Given the description of an element on the screen output the (x, y) to click on. 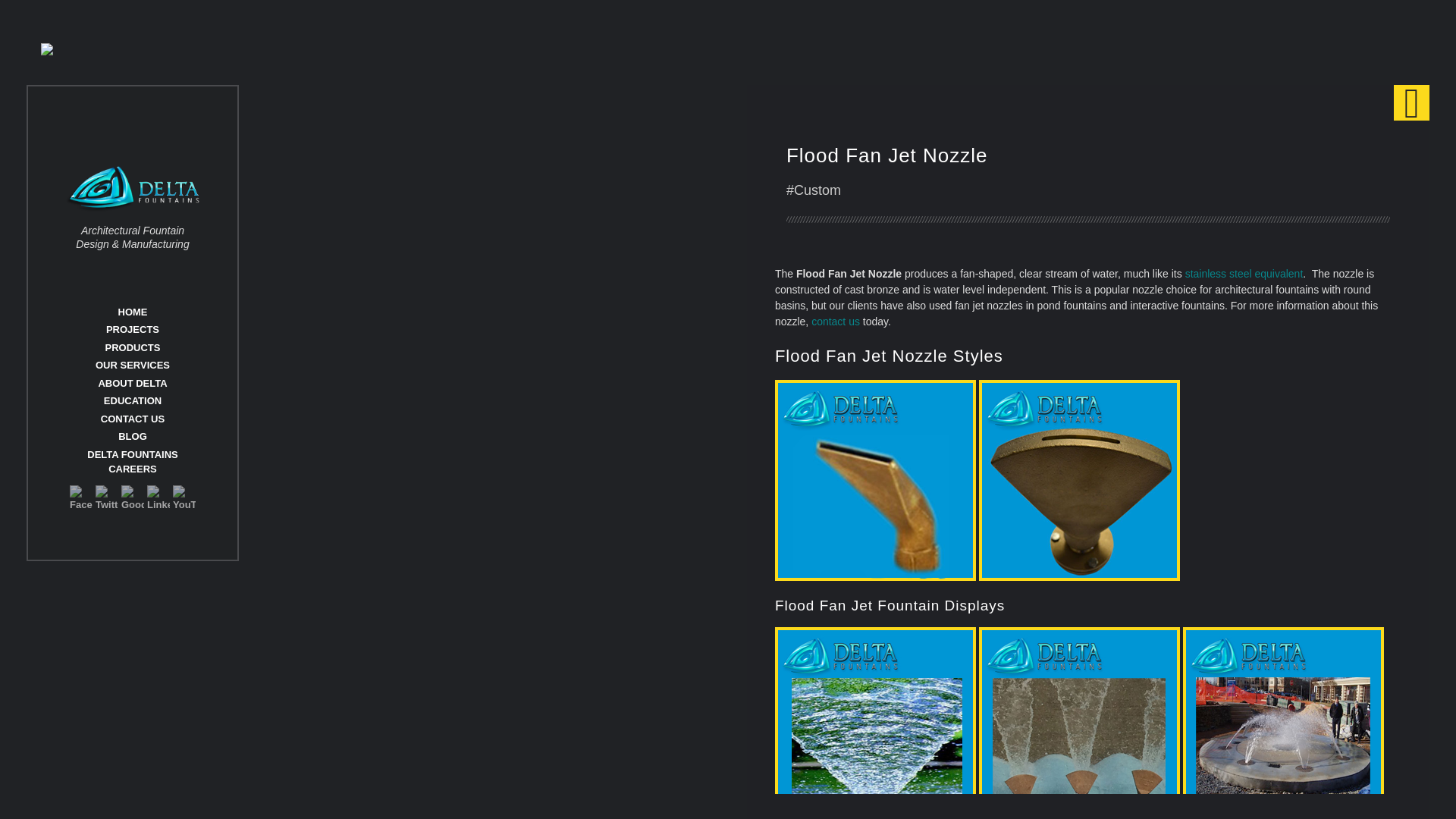
OUR SERVICES (133, 365)
Facebook (81, 496)
Delta Fountains (132, 188)
YouTube (184, 496)
DELTA FOUNTAINS CAREERS (132, 461)
PRODUCTS (132, 346)
Bronze Nozzle Display (1078, 723)
ABOUT DELTA (132, 383)
PROJECTS (132, 328)
Angled Flood Fan Jet Nozzle (874, 480)
